Given the description of an element on the screen output the (x, y) to click on. 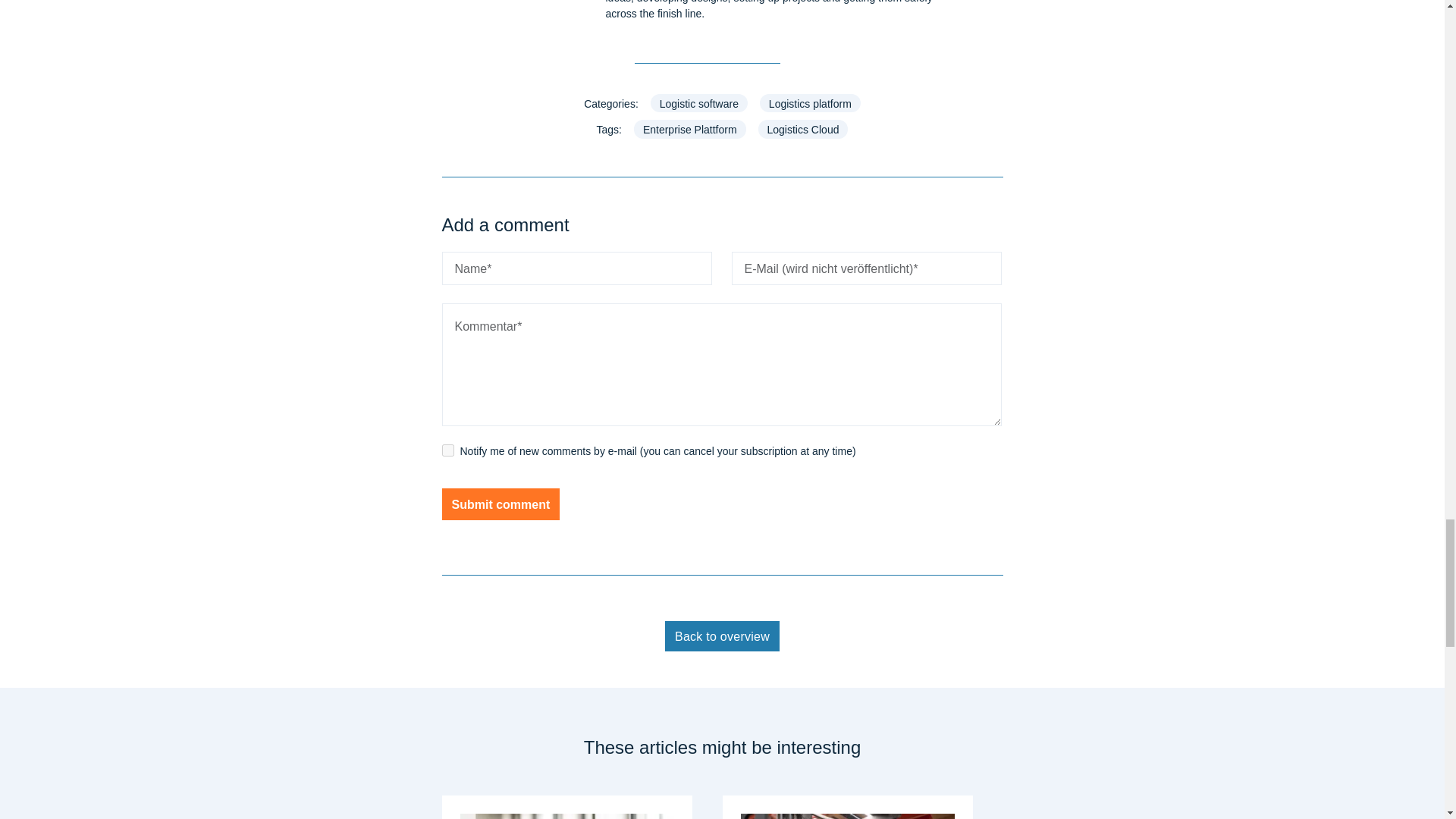
1 (446, 450)
